Given the description of an element on the screen output the (x, y) to click on. 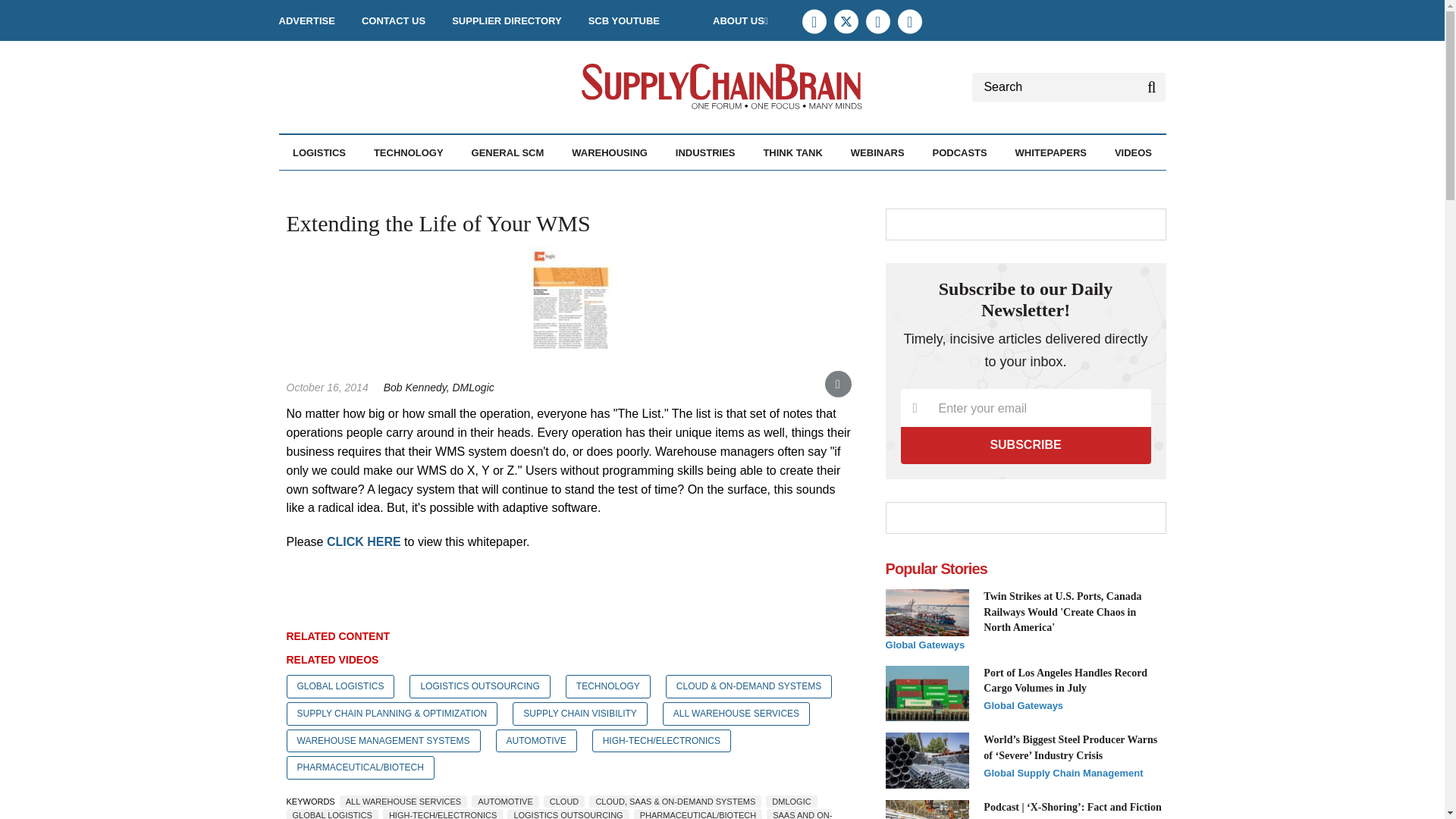
LOGISTICS (319, 152)
Service Parts Management (413, 193)
All Logistics (375, 184)
china-steel-bloomberg-415015874.jpg (927, 760)
TECHNOLOGY (409, 152)
ABOUT US (740, 20)
Ocean Transportation (407, 184)
Last Mile Delivery (401, 184)
Facility Location Planning (381, 193)
CONTACT US (393, 20)
